Given the description of an element on the screen output the (x, y) to click on. 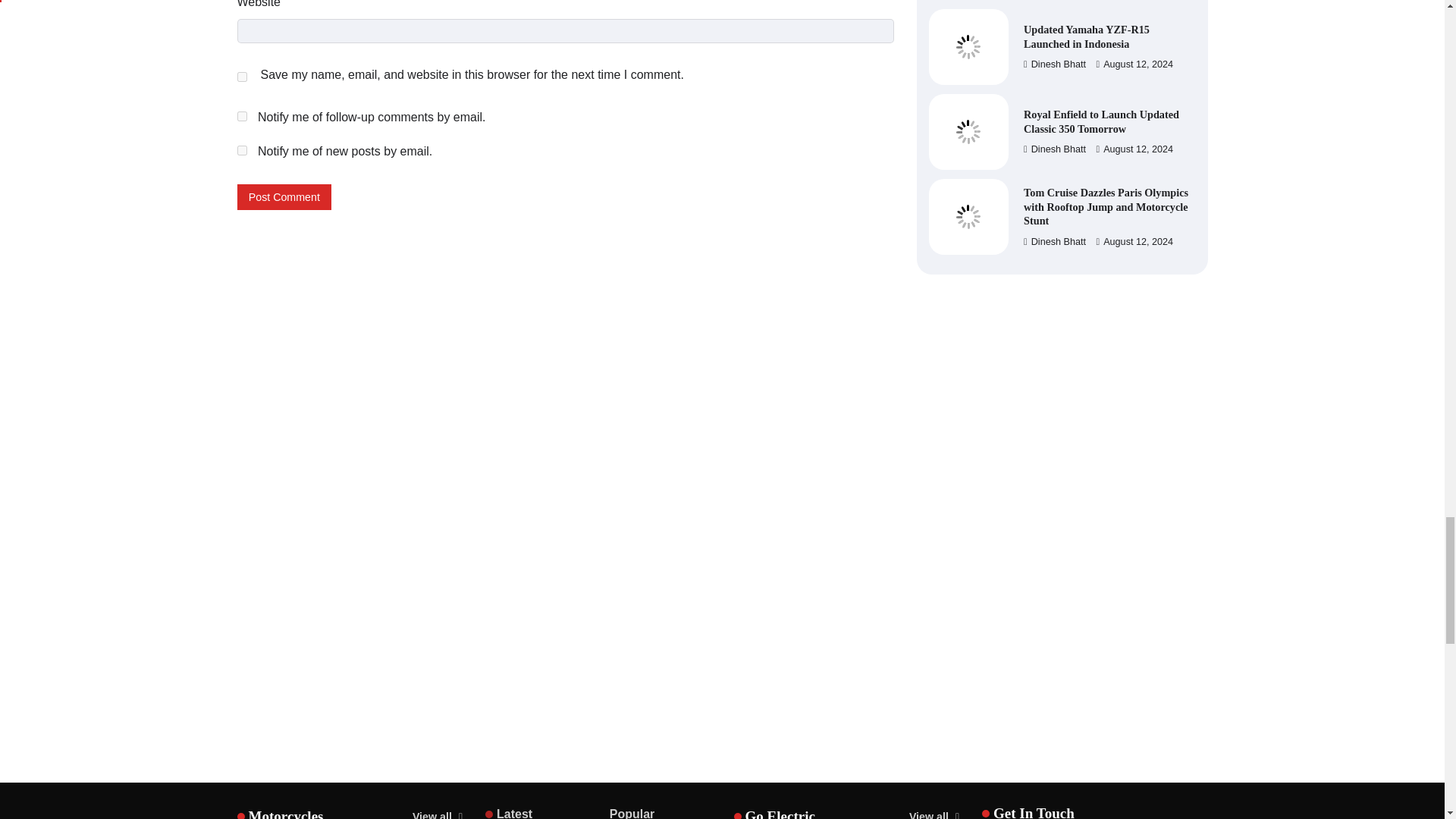
yes (240, 76)
subscribe (240, 116)
Post Comment (283, 196)
subscribe (240, 150)
